Given the description of an element on the screen output the (x, y) to click on. 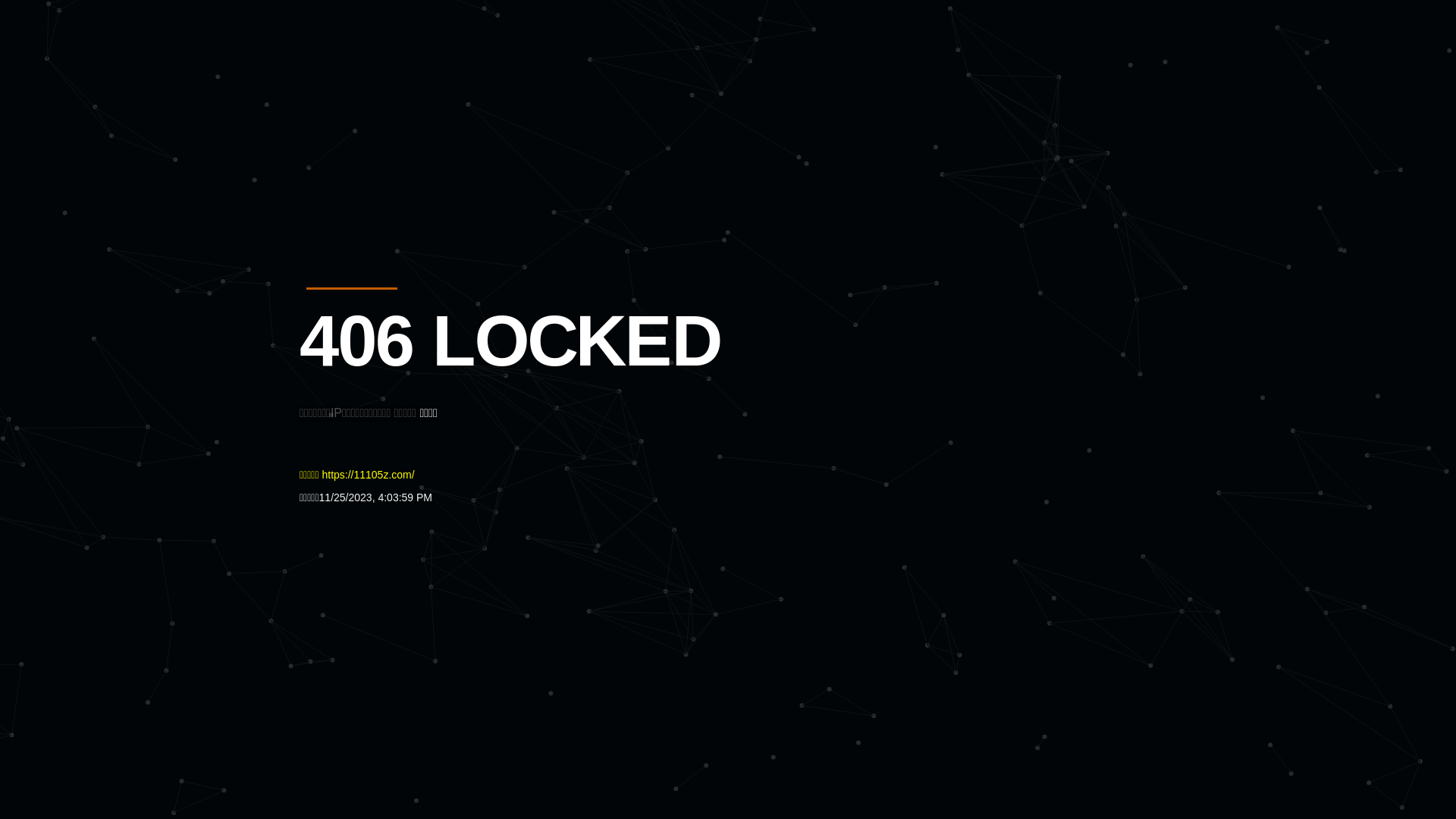
Quatro Element type: text (410, 86)
